Given the description of an element on the screen output the (x, y) to click on. 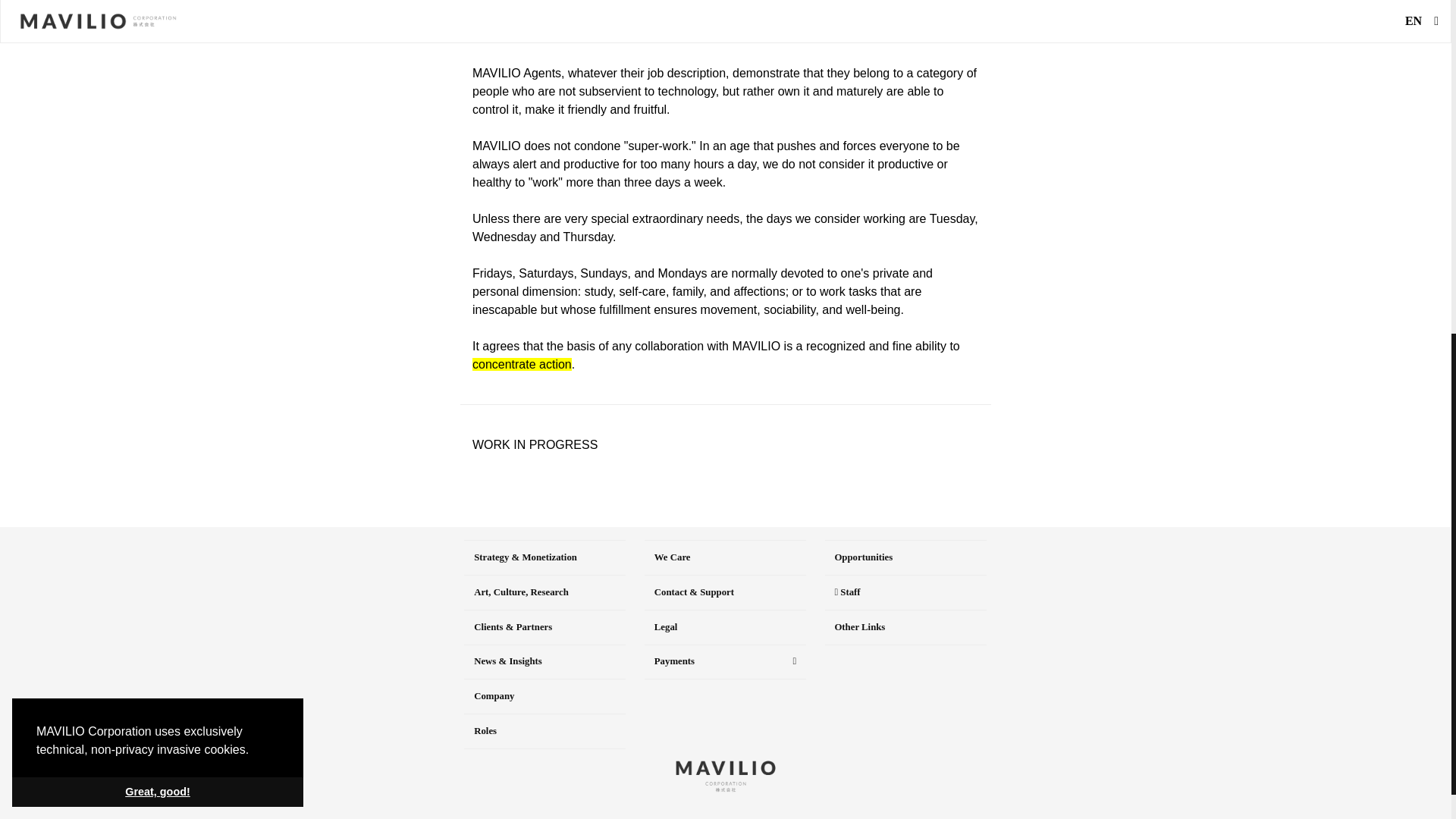
Art, Culture, Research (545, 592)
Company (545, 696)
Payments (725, 662)
Legal (725, 627)
MAVILIO Corporation (725, 776)
Roles (545, 731)
Other Links (906, 627)
Opportunities (906, 557)
Great, good! (156, 198)
We Care (725, 557)
Staff (906, 592)
